Given the description of an element on the screen output the (x, y) to click on. 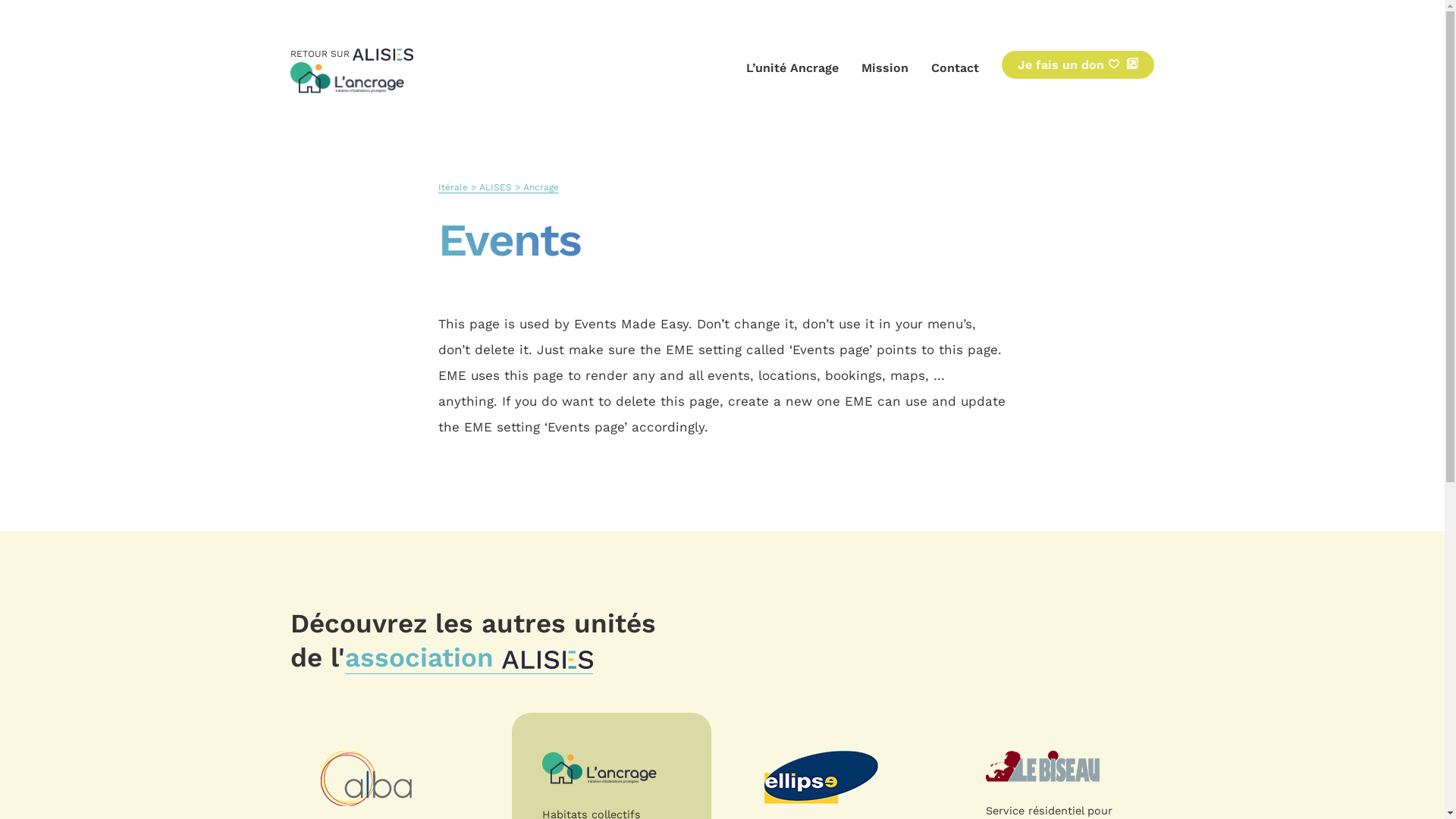
RETOUR SUR Element type: text (350, 54)
Contact Element type: text (954, 67)
Mission Element type: text (884, 67)
association Element type: text (468, 657)
Je fais un don Element type: text (1077, 64)
